Given the description of an element on the screen output the (x, y) to click on. 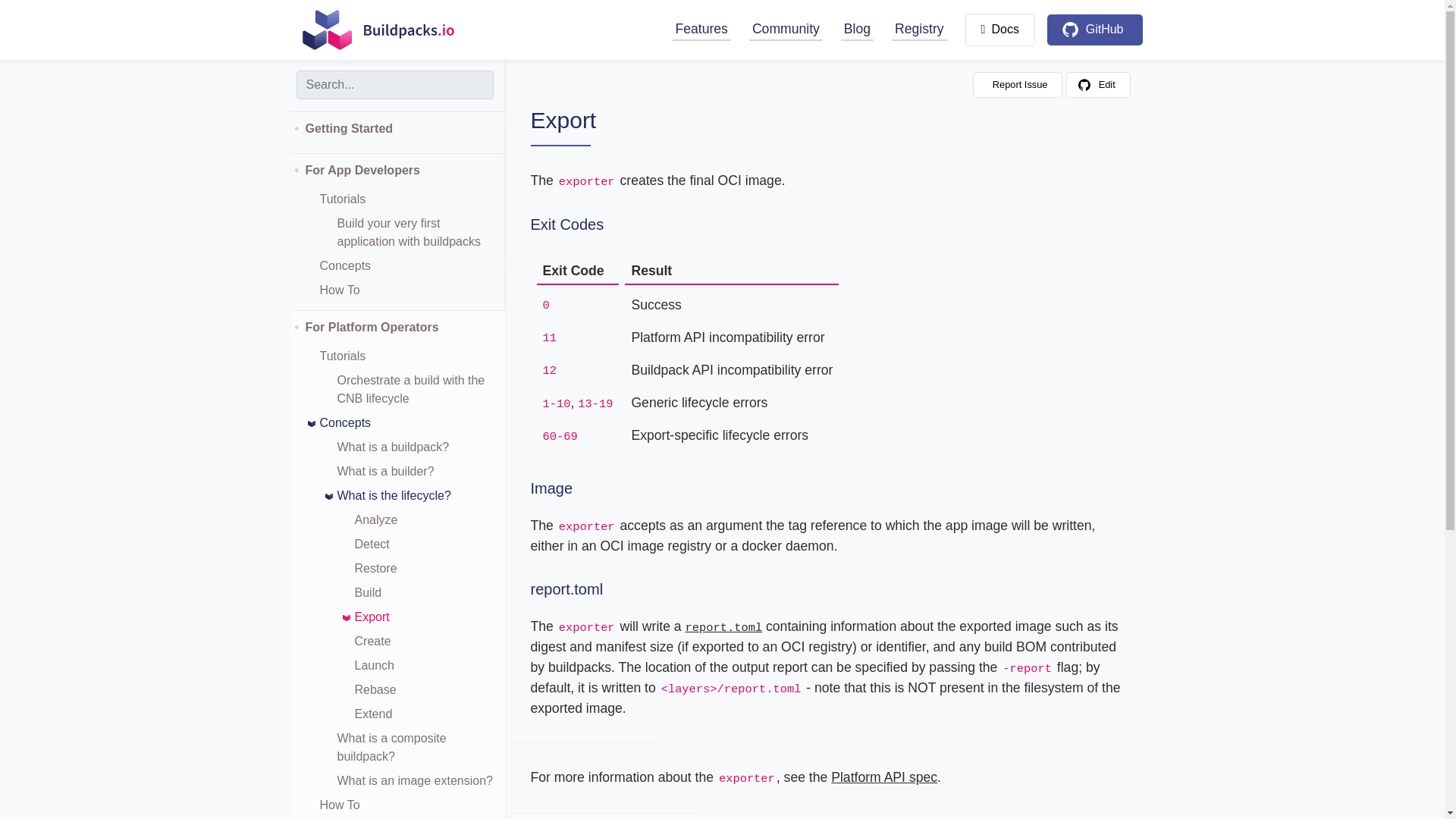
Getting Started (397, 132)
GitHub (1094, 29)
Concepts (345, 265)
Registry (919, 29)
Build your very first application with buildpacks (414, 232)
For App Developers (397, 174)
Features (700, 29)
Community (785, 29)
Tutorials (342, 199)
Docs (1000, 29)
